Given the description of an element on the screen output the (x, y) to click on. 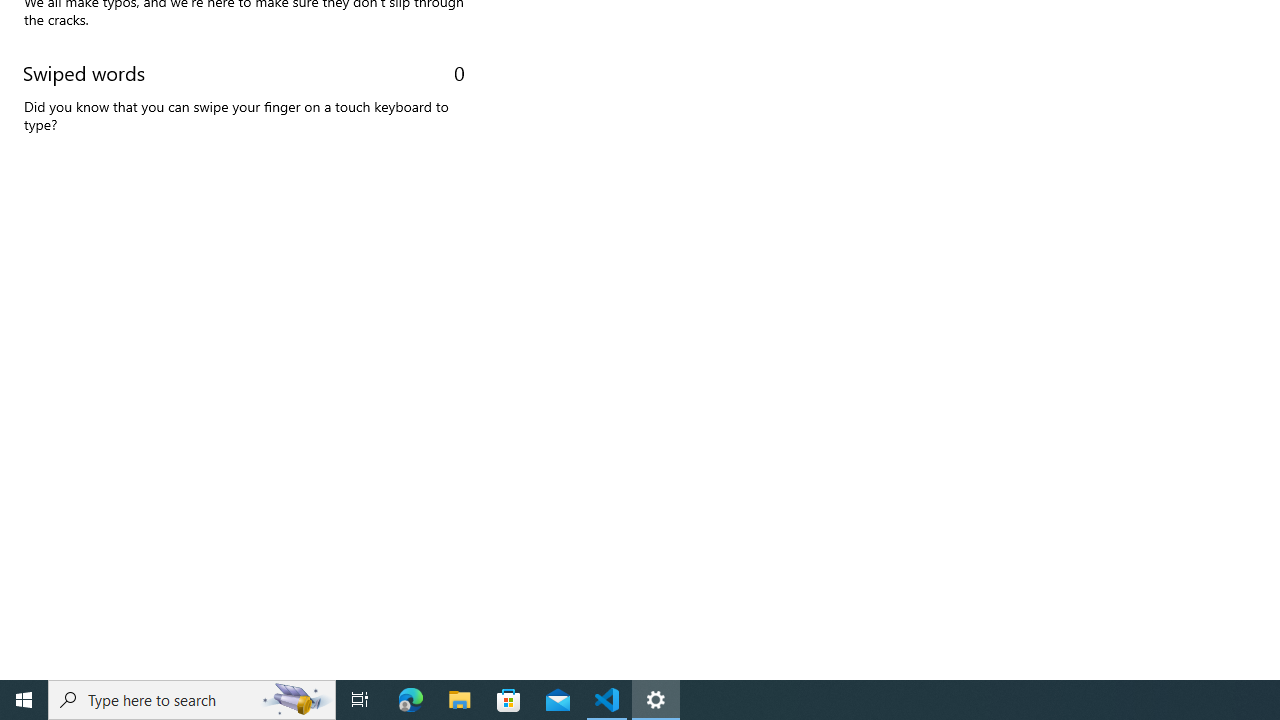
Settings - 1 running window (656, 699)
